Given the description of an element on the screen output the (x, y) to click on. 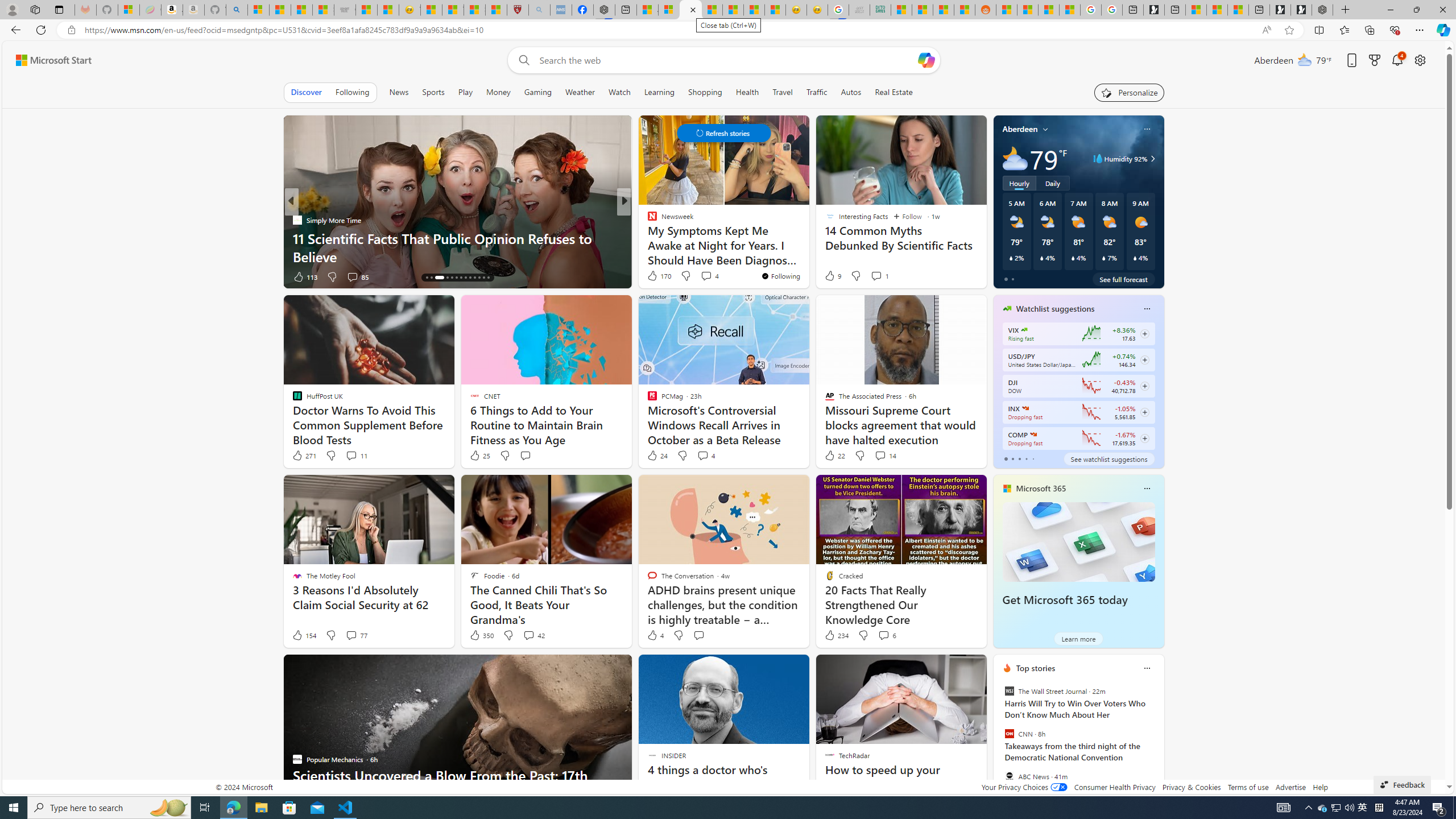
next (1158, 741)
View comments 231 Comment (705, 276)
Combat Siege (345, 9)
View comments 11 Comment (355, 455)
Mostly cloudy (1014, 158)
170 Like (658, 275)
View comments 231 Comment (698, 276)
You're following FOX News (949, 279)
View comments 14 Comment (879, 455)
350 Like (480, 634)
